Given the description of an element on the screen output the (x, y) to click on. 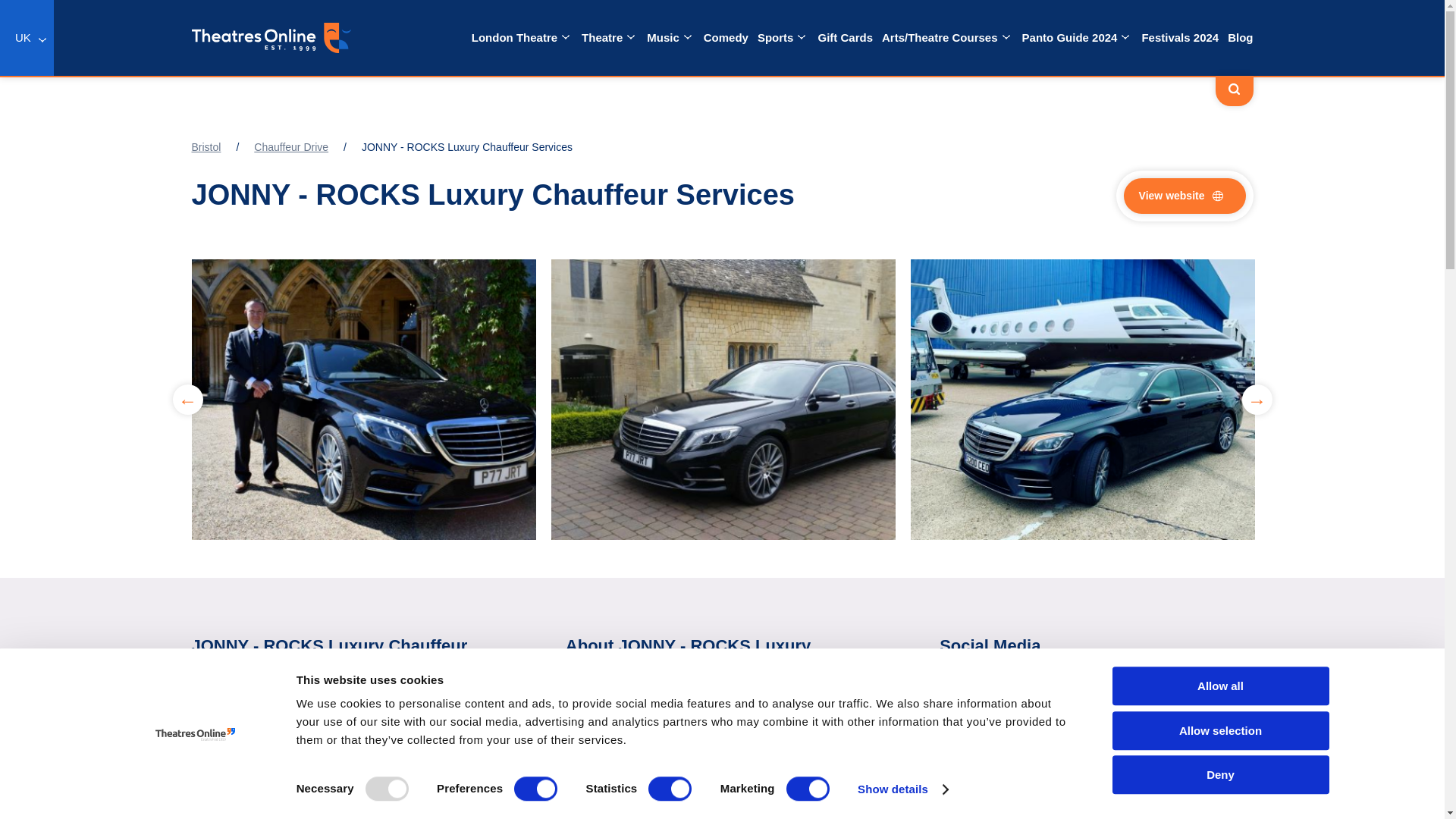
Show details (902, 789)
